Given the description of an element on the screen output the (x, y) to click on. 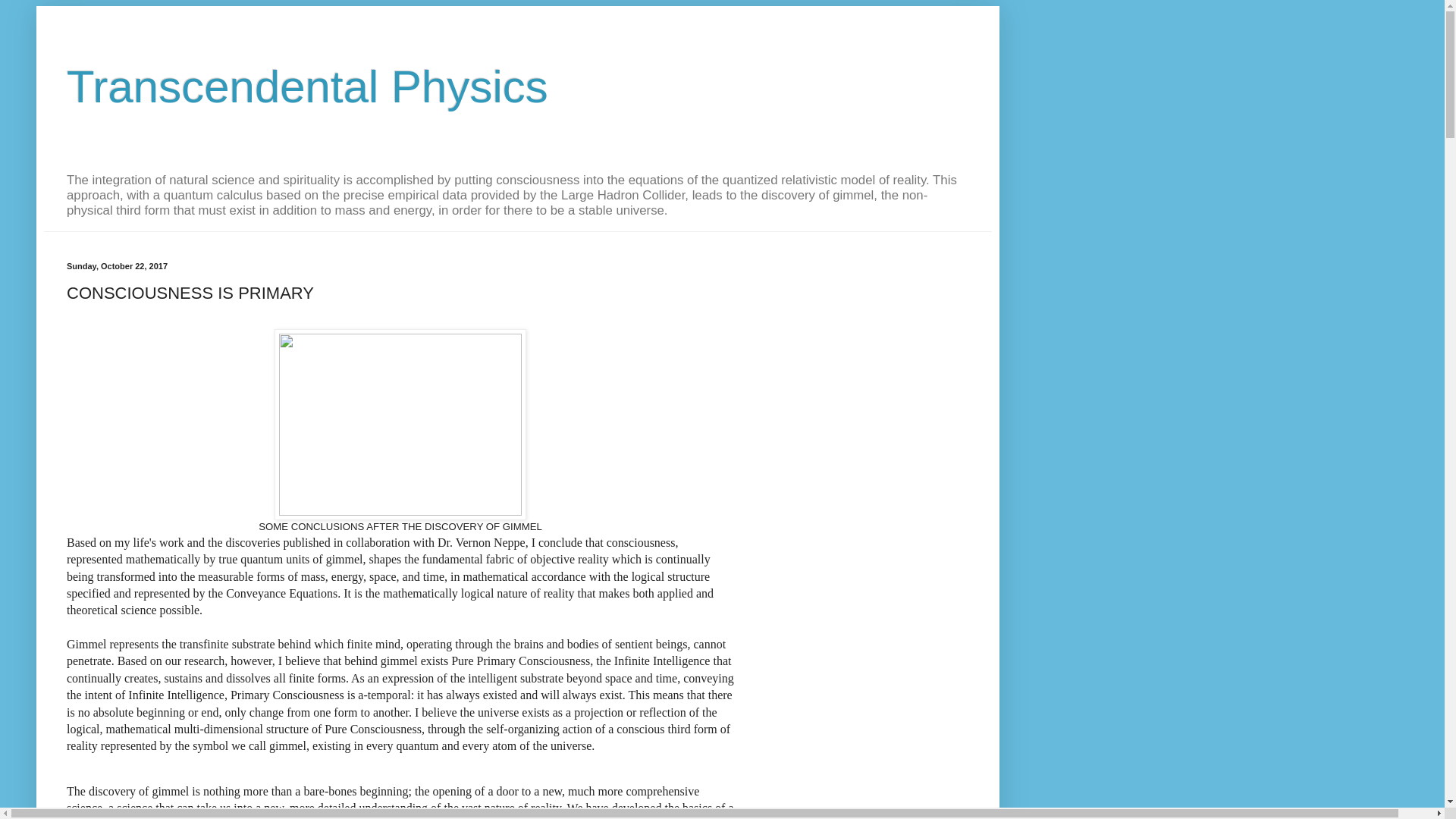
Transcendental Physics (307, 86)
